Given the description of an element on the screen output the (x, y) to click on. 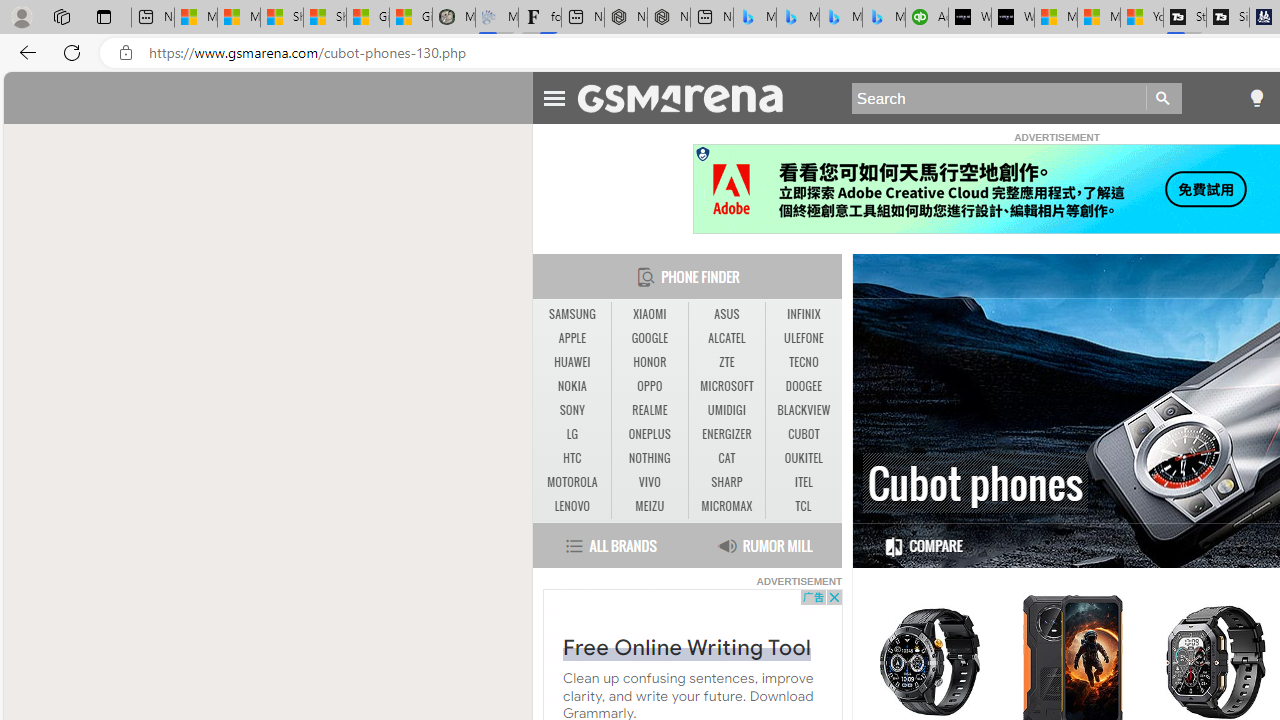
LG (571, 434)
HONOR (649, 362)
TECNO (803, 362)
HONOR (649, 362)
HUAWEI (571, 362)
Accounting Software for Accountants, CPAs and Bookkeepers (927, 17)
ZTE (726, 362)
LENOVO (571, 506)
ALCATEL (726, 339)
Microsoft Bing Travel - Stays in Bangkok, Bangkok, Thailand (798, 17)
